Given the description of an element on the screen output the (x, y) to click on. 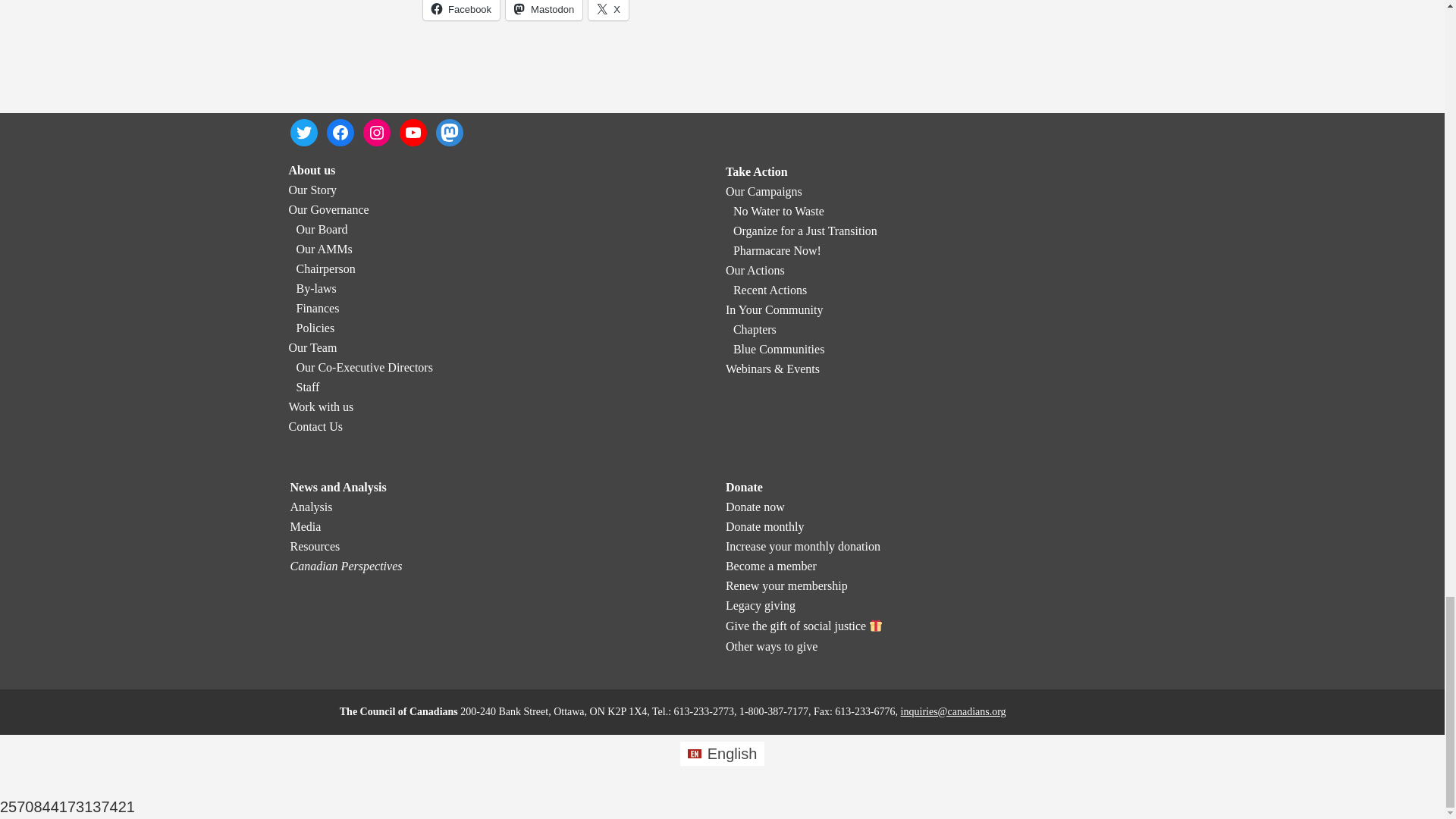
Facebook (461, 10)
Click to share on Mastodon (543, 10)
X (608, 10)
Our AMMs (323, 248)
Our Story (312, 189)
Mastodon (543, 10)
Our Governance (328, 209)
Click to share on X (608, 10)
Click to share on Facebook (461, 10)
About us (311, 169)
